Given the description of an element on the screen output the (x, y) to click on. 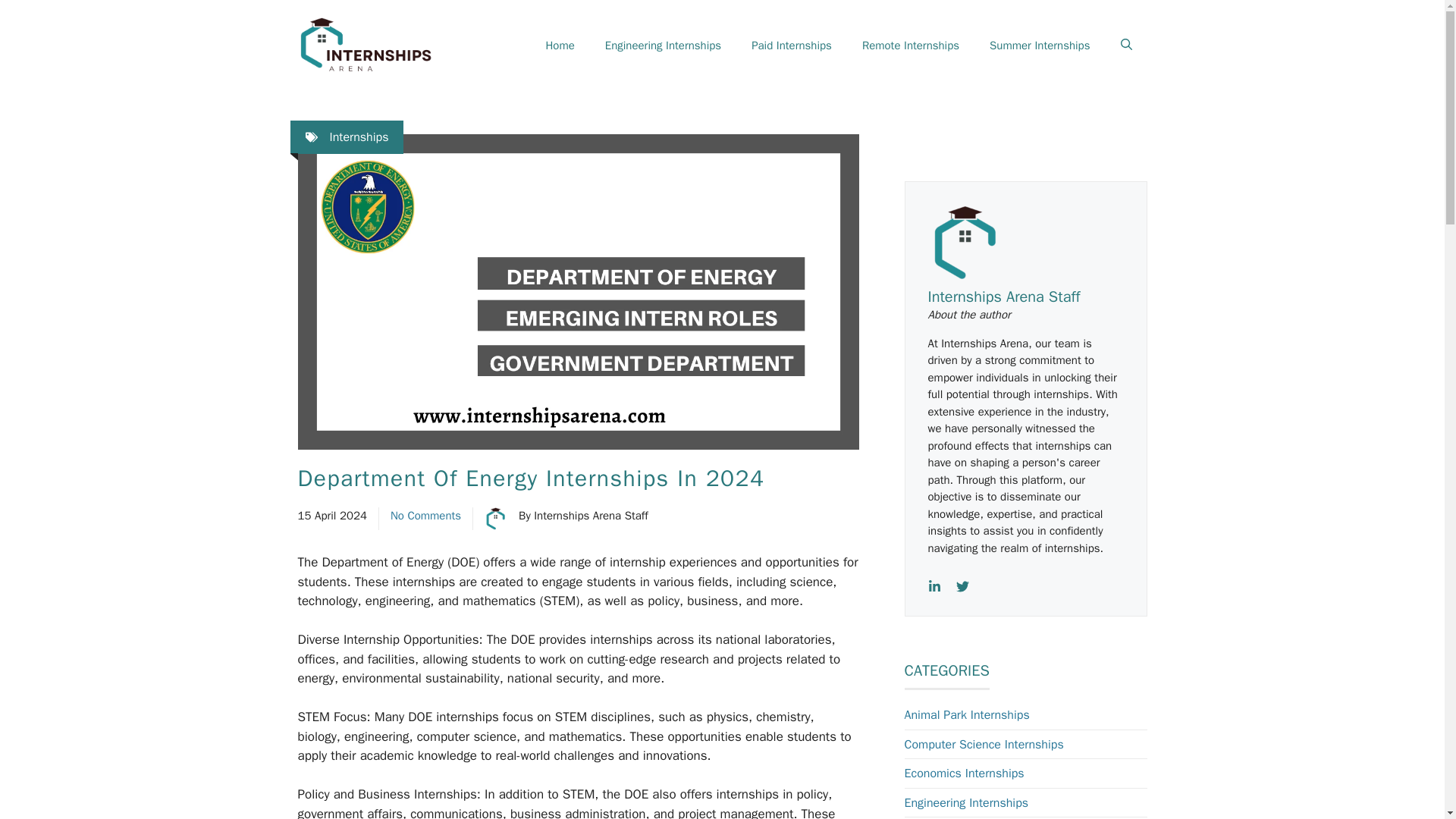
Computer Science Internships (983, 744)
Animal Park Internships (966, 714)
Internships (358, 136)
Remote Internships (910, 44)
Economics Internships (963, 773)
No Comments (425, 515)
Summer Internships (1039, 44)
Home (559, 44)
Paid Internships (791, 44)
Engineering Internships (662, 44)
Engineering Internships (965, 802)
